Given the description of an element on the screen output the (x, y) to click on. 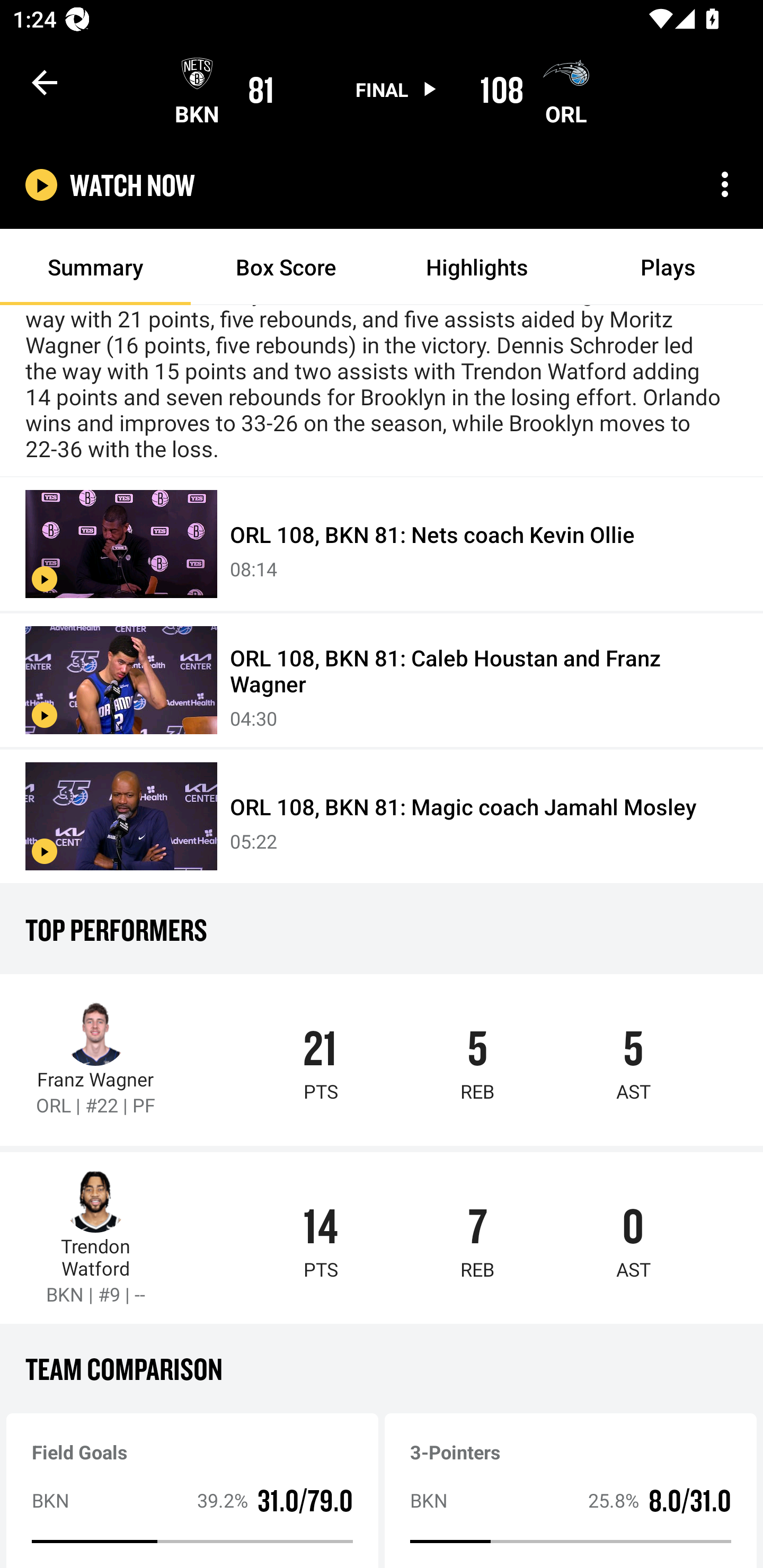
Navigate up (44, 82)
More options (724, 183)
WATCH NOW (132, 184)
Box Score (285, 266)
Highlights (476, 266)
Plays (667, 266)
ORL 108, BKN 81: Nets coach Kevin Ollie 08:14 (381, 544)
ORL 108, BKN 81: Magic coach Jamahl Mosley 05:22 (381, 816)
TOP PERFORMERS (381, 928)
Franz Wagner ORL | #22 | PF 21 PTS 5 REB 5 AST (381, 1059)
Trendon Watford BKN | #9 | -- 14 PTS 7 REB 0 AST (381, 1237)
TEAM COMPARISON (381, 1367)
